Given the description of an element on the screen output the (x, y) to click on. 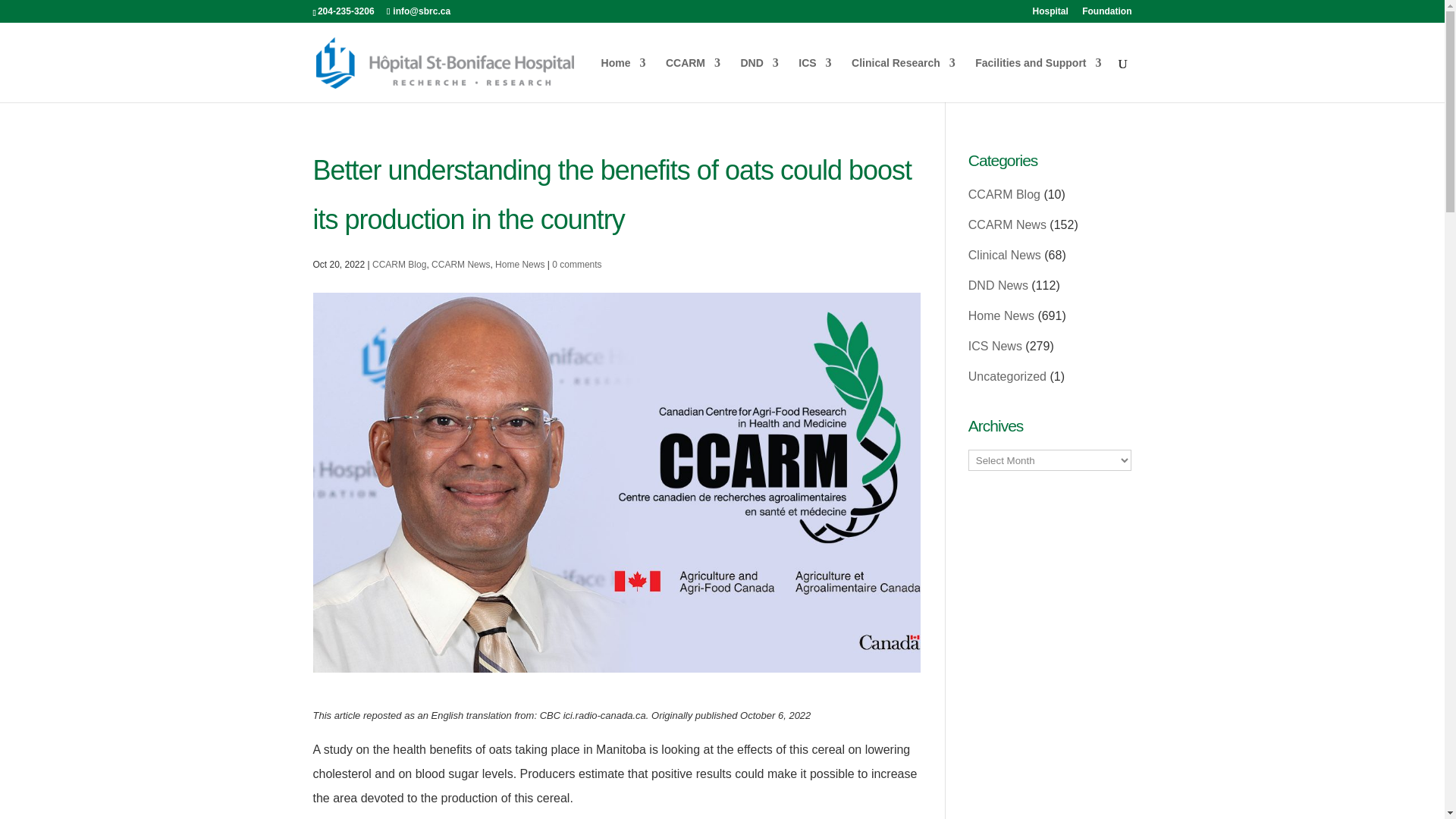
Hospital (1049, 14)
Home (623, 79)
Foundation (1106, 14)
CCARM (692, 79)
